Given the description of an element on the screen output the (x, y) to click on. 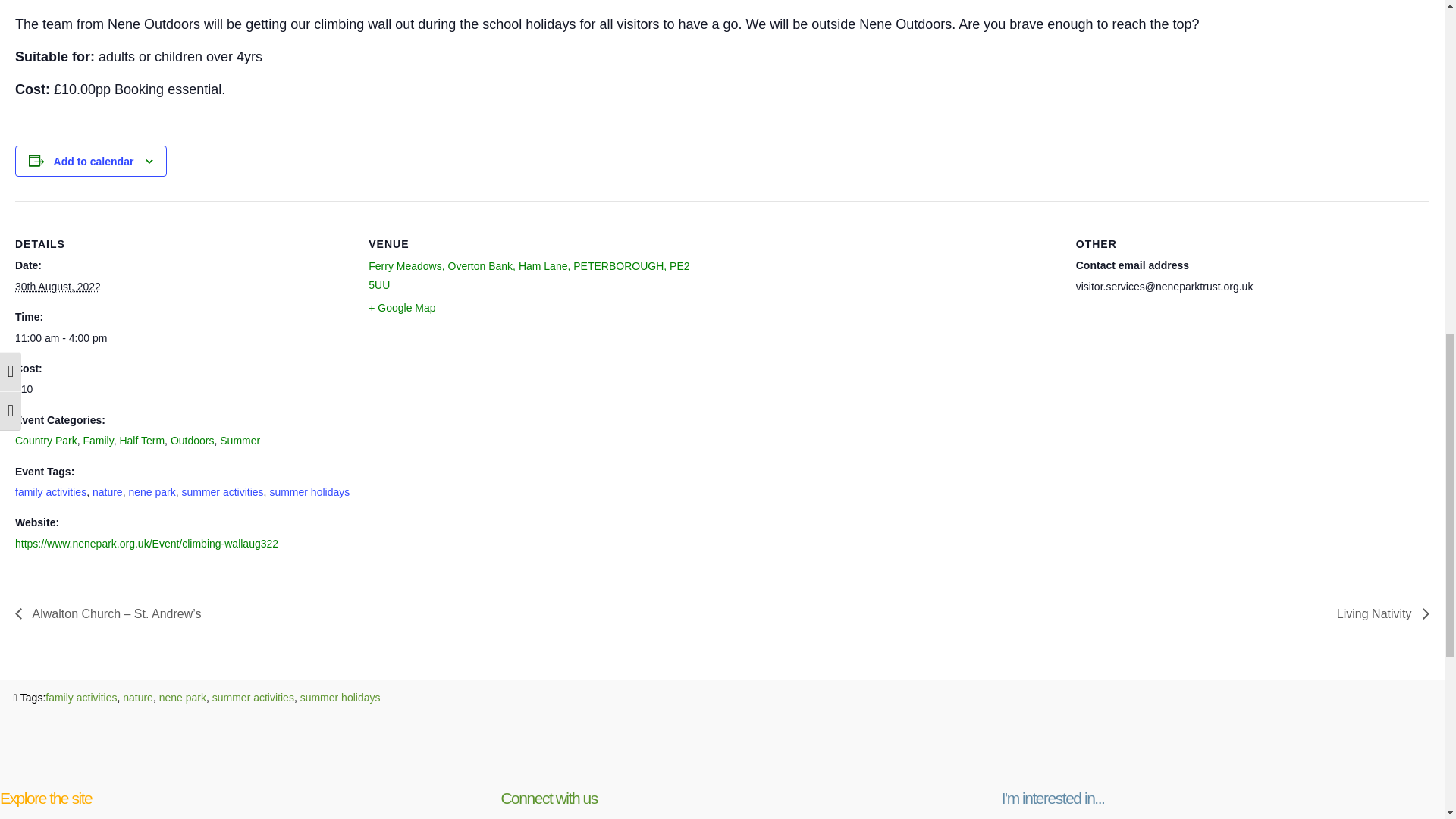
2022-08-30 (57, 286)
2022-08-30 (182, 338)
